Given the description of an element on the screen output the (x, y) to click on. 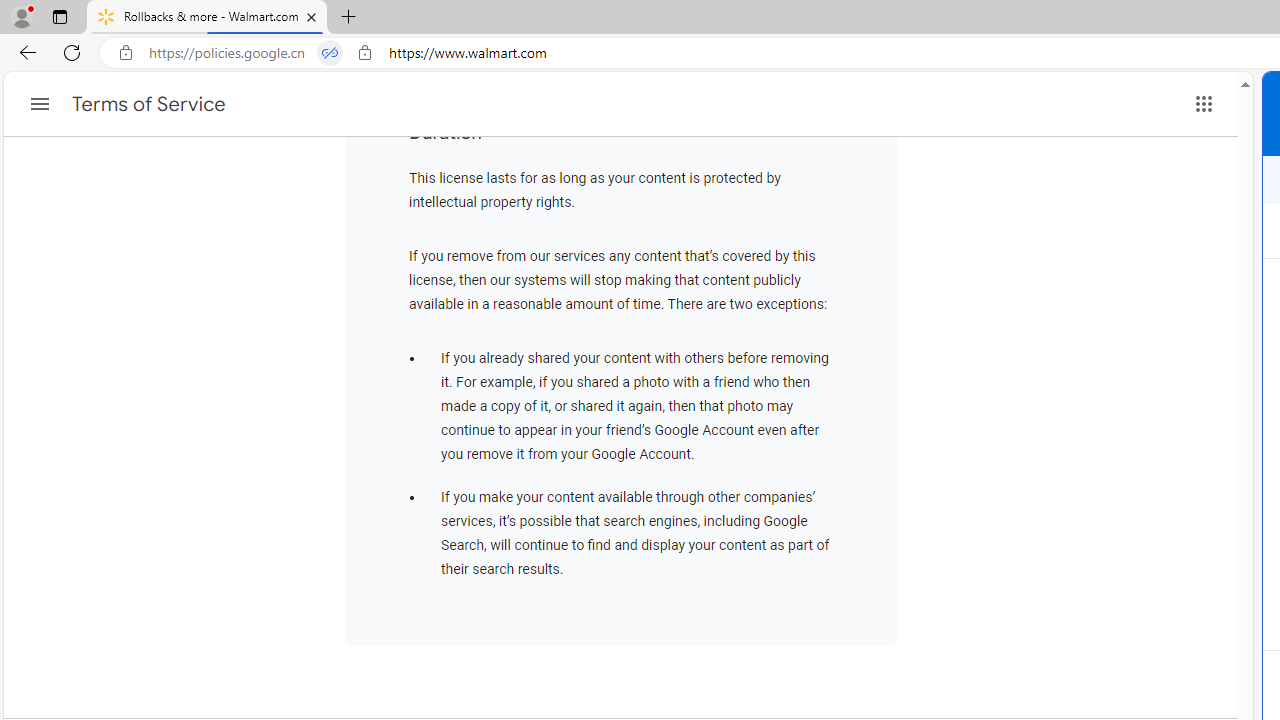
Tabs in split screen (330, 53)
Rollbacks & more - Walmart.com (207, 17)
